Given the description of an element on the screen output the (x, y) to click on. 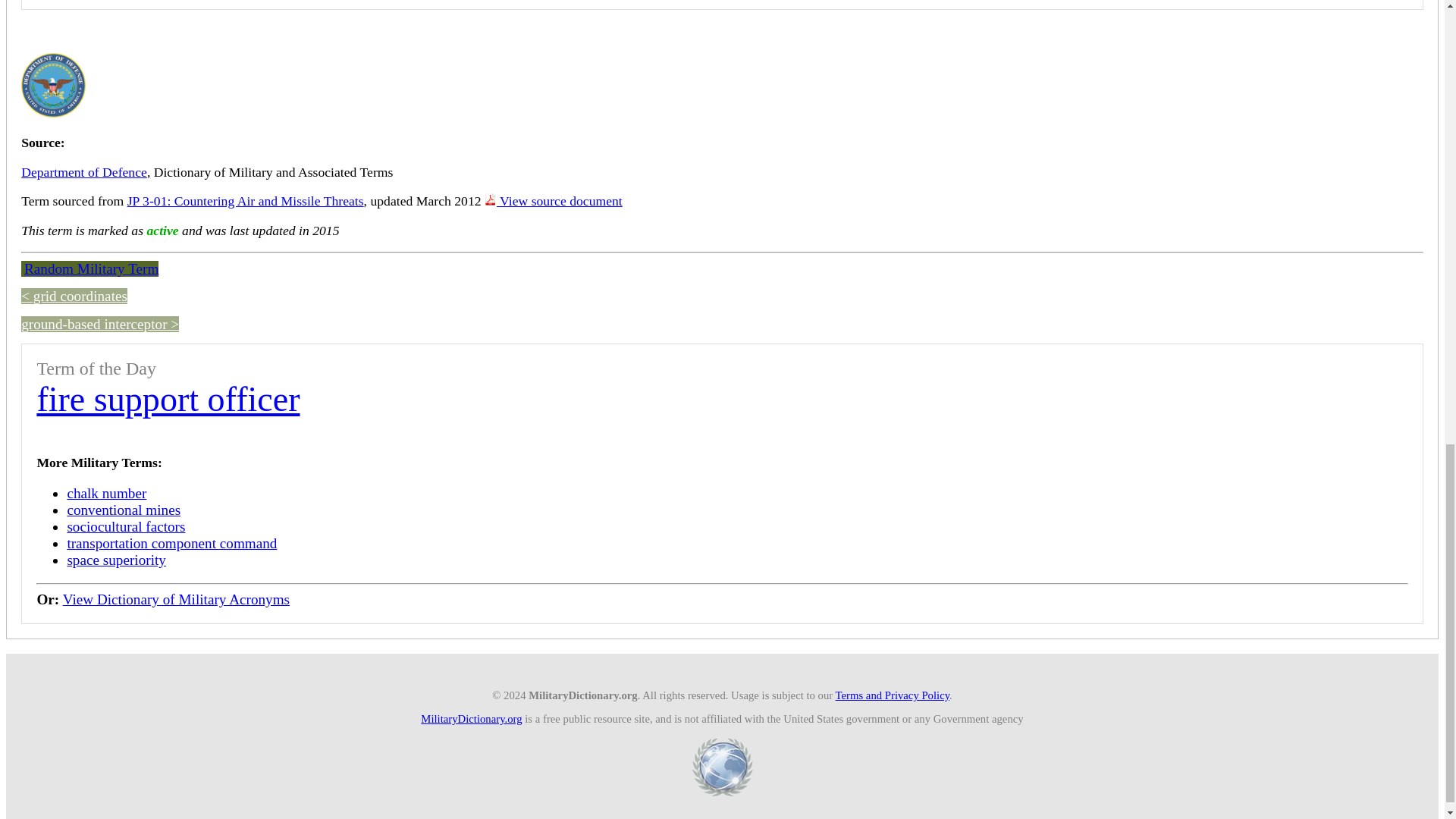
JP 3-01: Countering Air and Missile Threats (246, 200)
MilitaryDictionary.org is a Marathon Studios production (721, 767)
View source document (553, 200)
Department of Defence (84, 171)
